Given the description of an element on the screen output the (x, y) to click on. 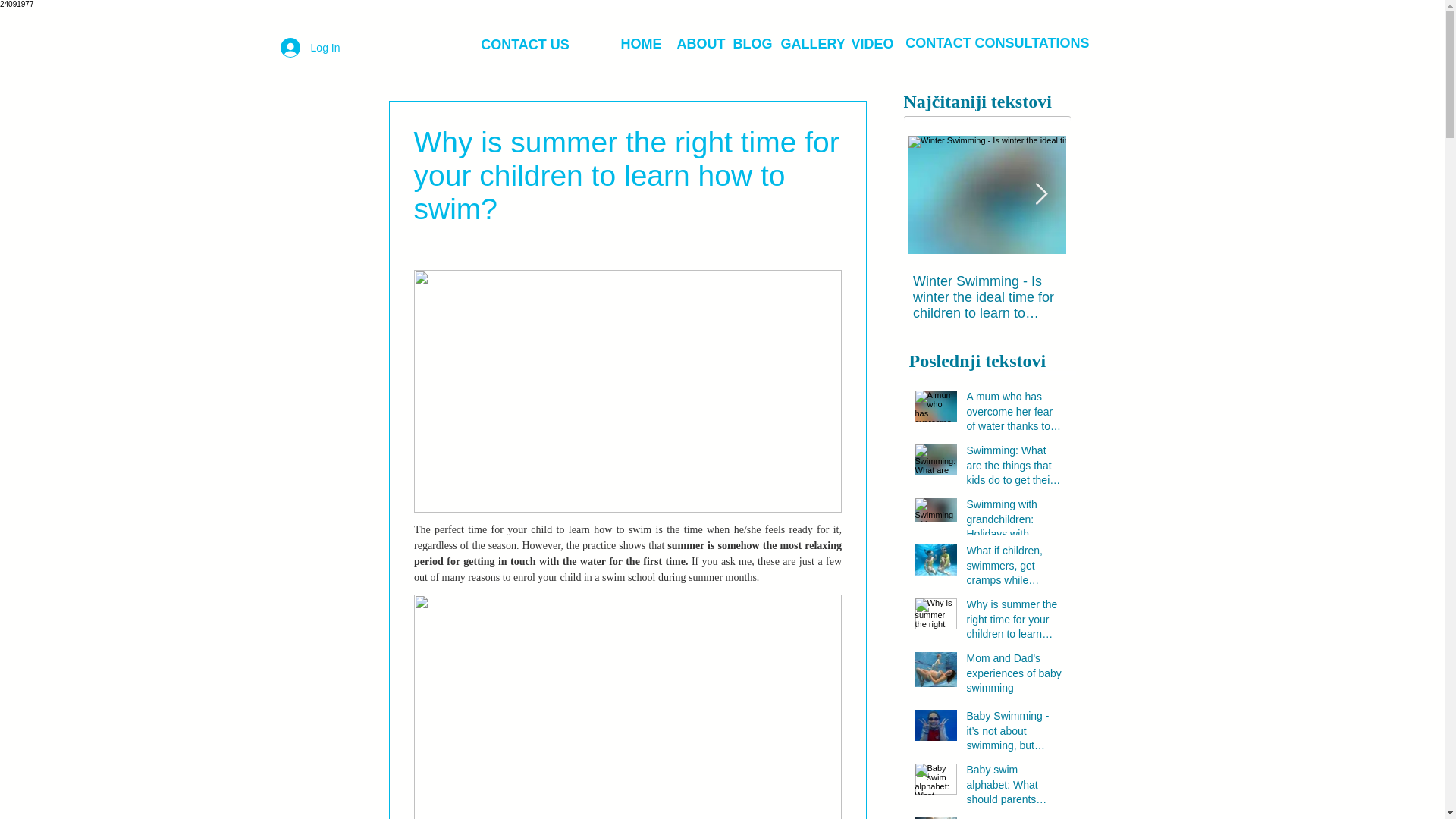
CONTACT US (524, 44)
ABOUT (700, 44)
CONTACT (939, 43)
CONSULTATIONS (1032, 43)
HOME (640, 44)
GALLERY (812, 44)
